Given the description of an element on the screen output the (x, y) to click on. 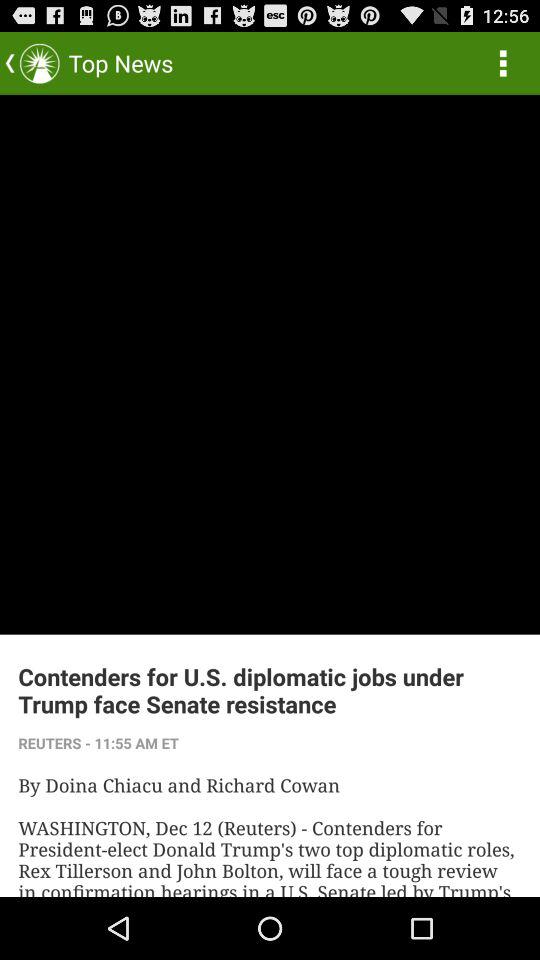
click the icon to the right of top news icon (503, 62)
